Given the description of an element on the screen output the (x, y) to click on. 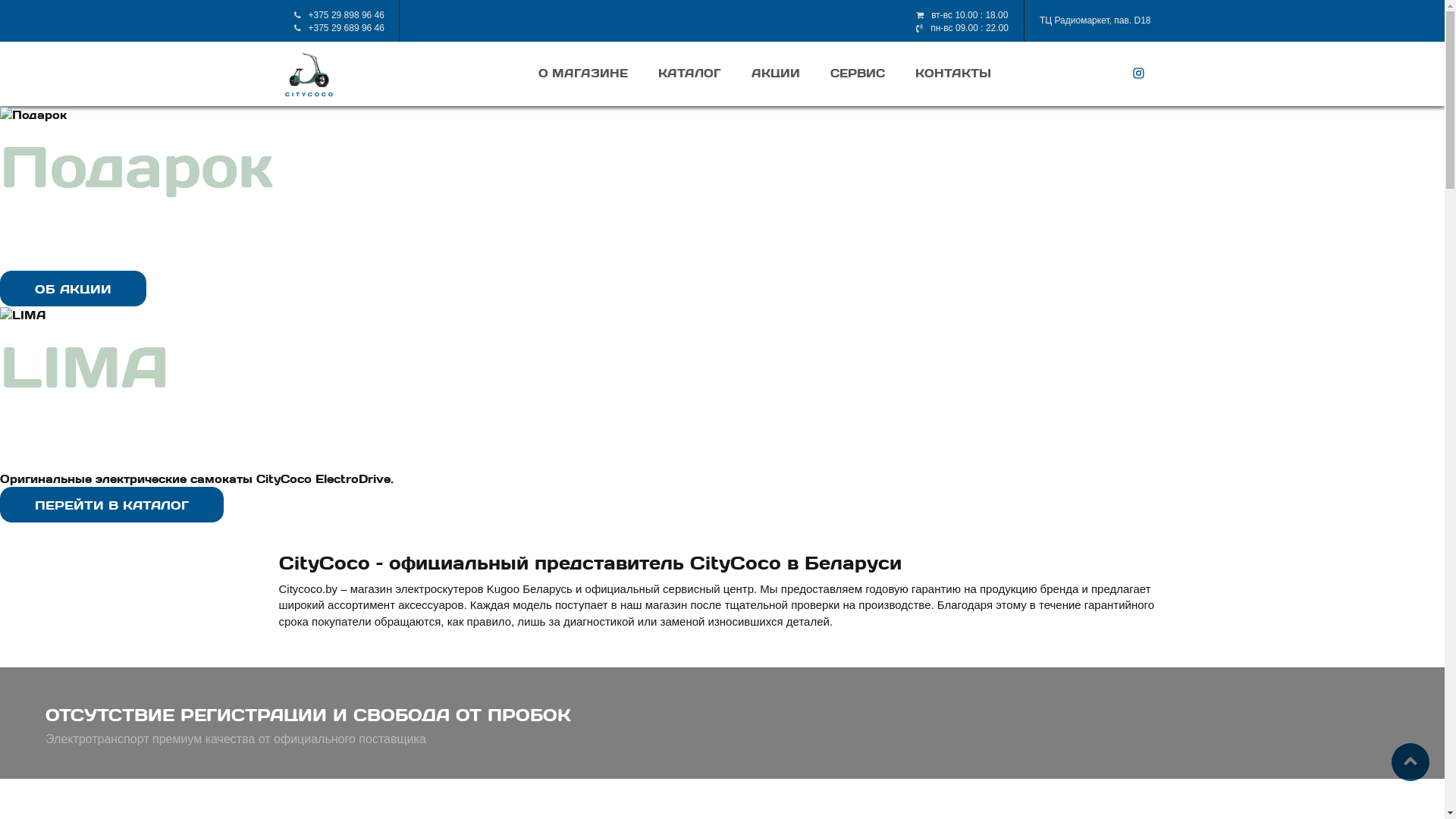
CITYCOCO Element type: text (309, 79)
+375 29 689 96 46 Element type: text (346, 27)
+375 29 898 96 46 Element type: text (346, 14)
